Given the description of an element on the screen output the (x, y) to click on. 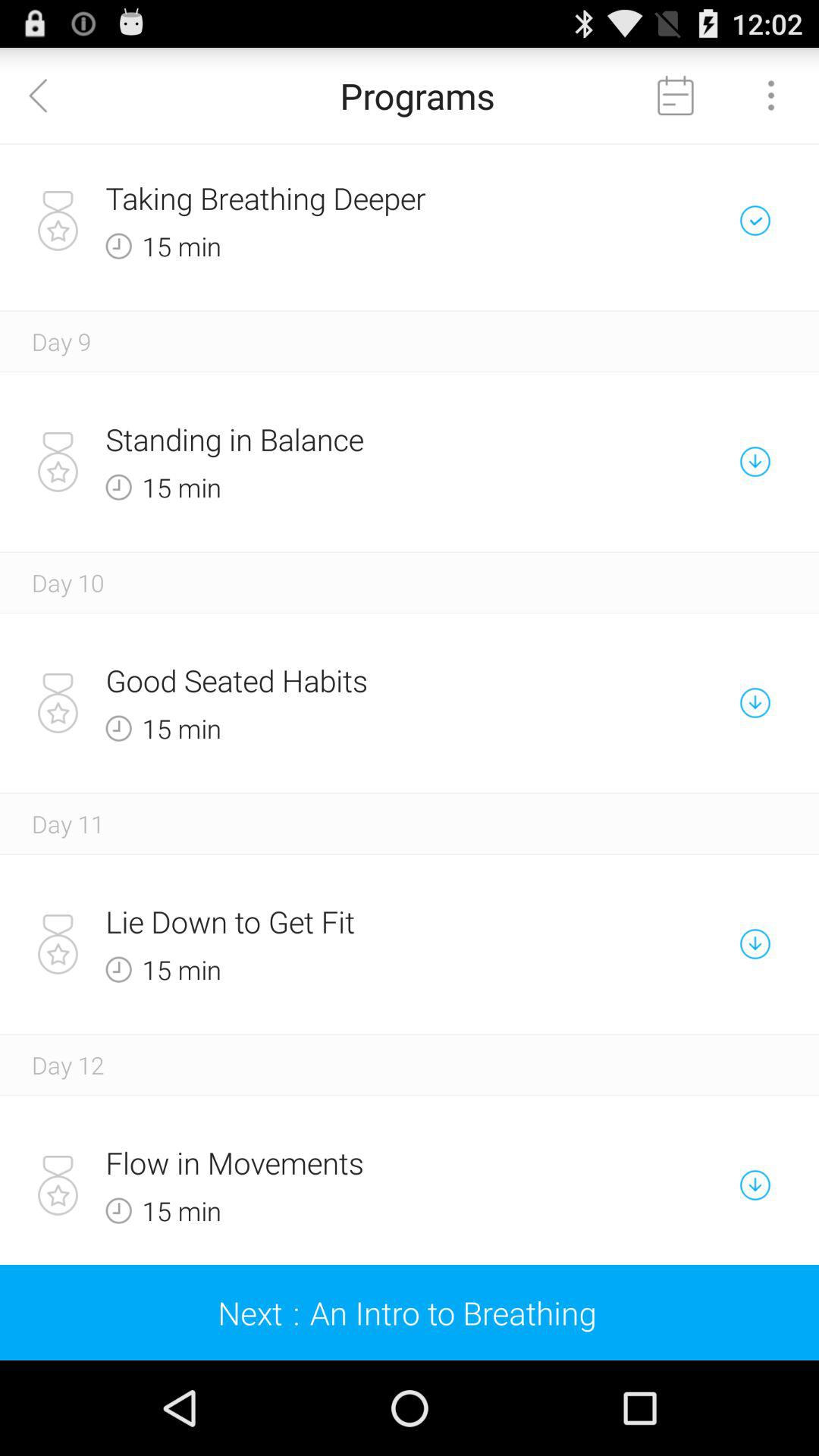
press the item above 15 min item (356, 198)
